Given the description of an element on the screen output the (x, y) to click on. 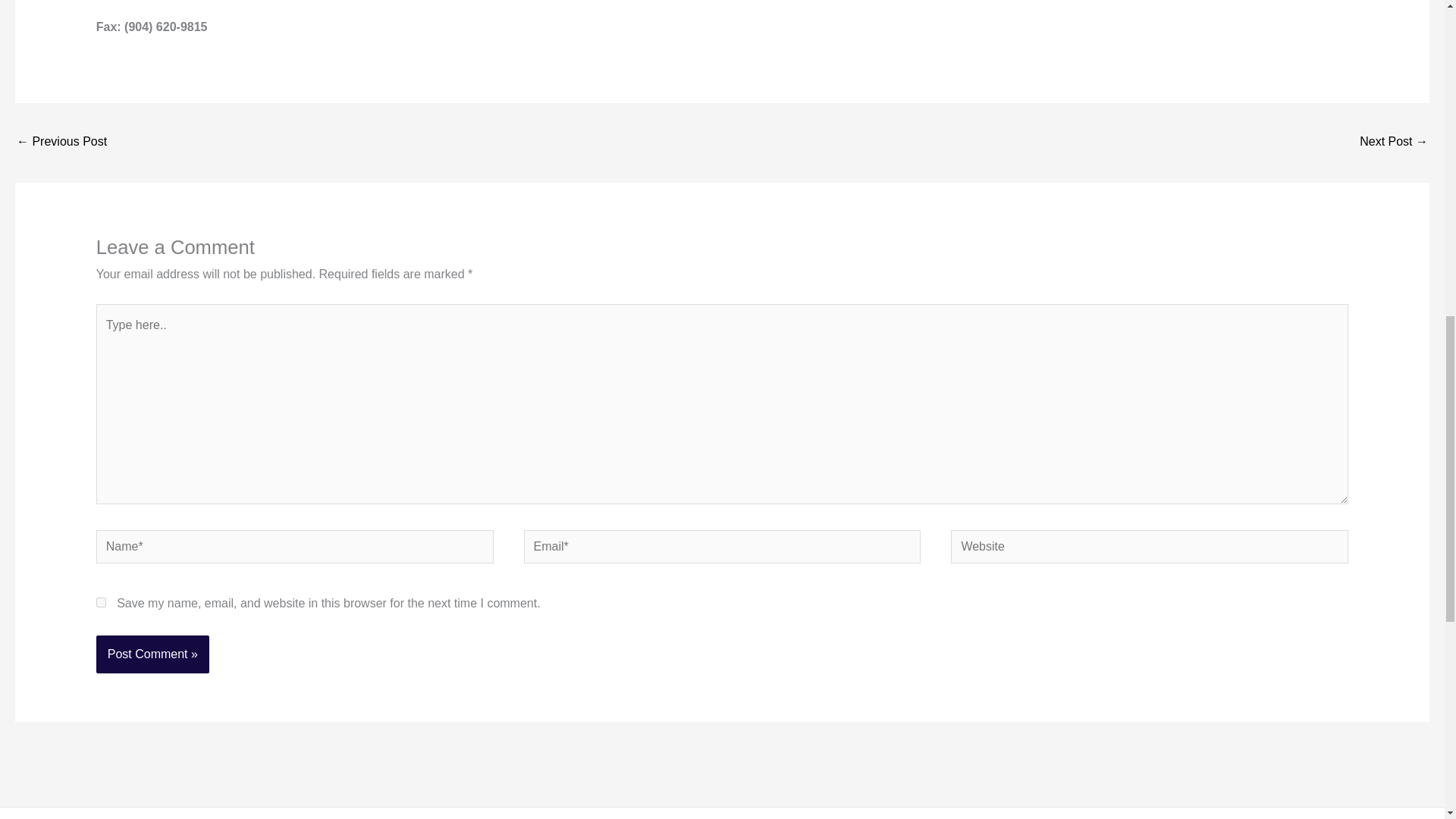
Holiday Electrical and Fire Hazards (61, 142)
Generators for the Home (1393, 142)
yes (101, 602)
